Given the description of an element on the screen output the (x, y) to click on. 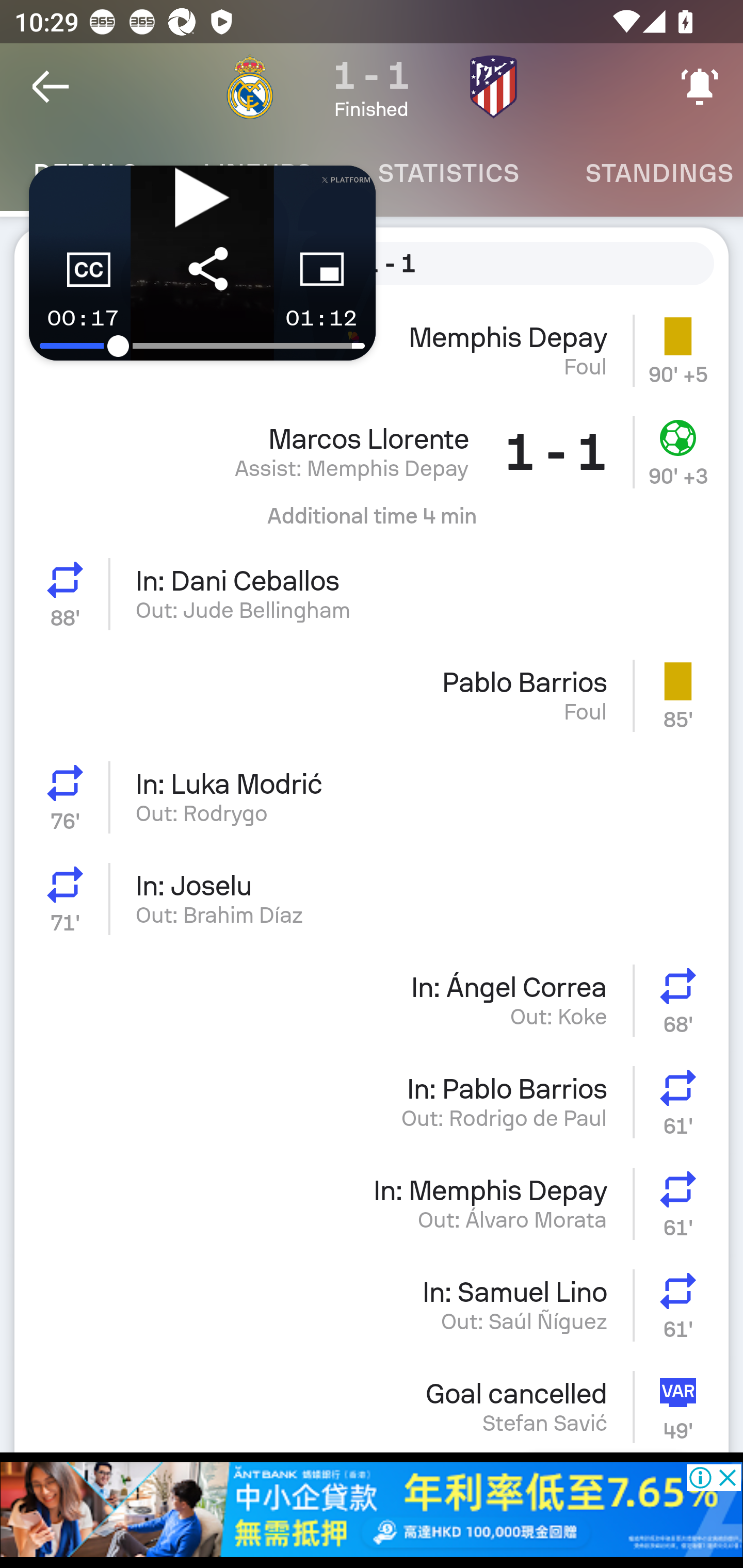
Navigate up (50, 86)
Statistics STATISTICS (448, 173)
Standings STANDINGS (647, 173)
Memphis Depay Foul Yellow card 90' +5 (371, 350)
Additional time 4 min (371, 522)
Pablo Barrios Foul Yellow card 85' (371, 695)
Substitution In: Luka Modrić 76' Out: Rodrygo (371, 797)
Substitution In: Joselu 71' Out: Brahim Díaz (371, 899)
In: Ángel Correa Out: Koke Substitution 68' (371, 1000)
In: Samuel Lino Out: Saúl Ñíguez Substitution 61' (371, 1305)
Goal cancelled Stefan Savić VAR 49' (371, 1403)
